Given the description of an element on the screen output the (x, y) to click on. 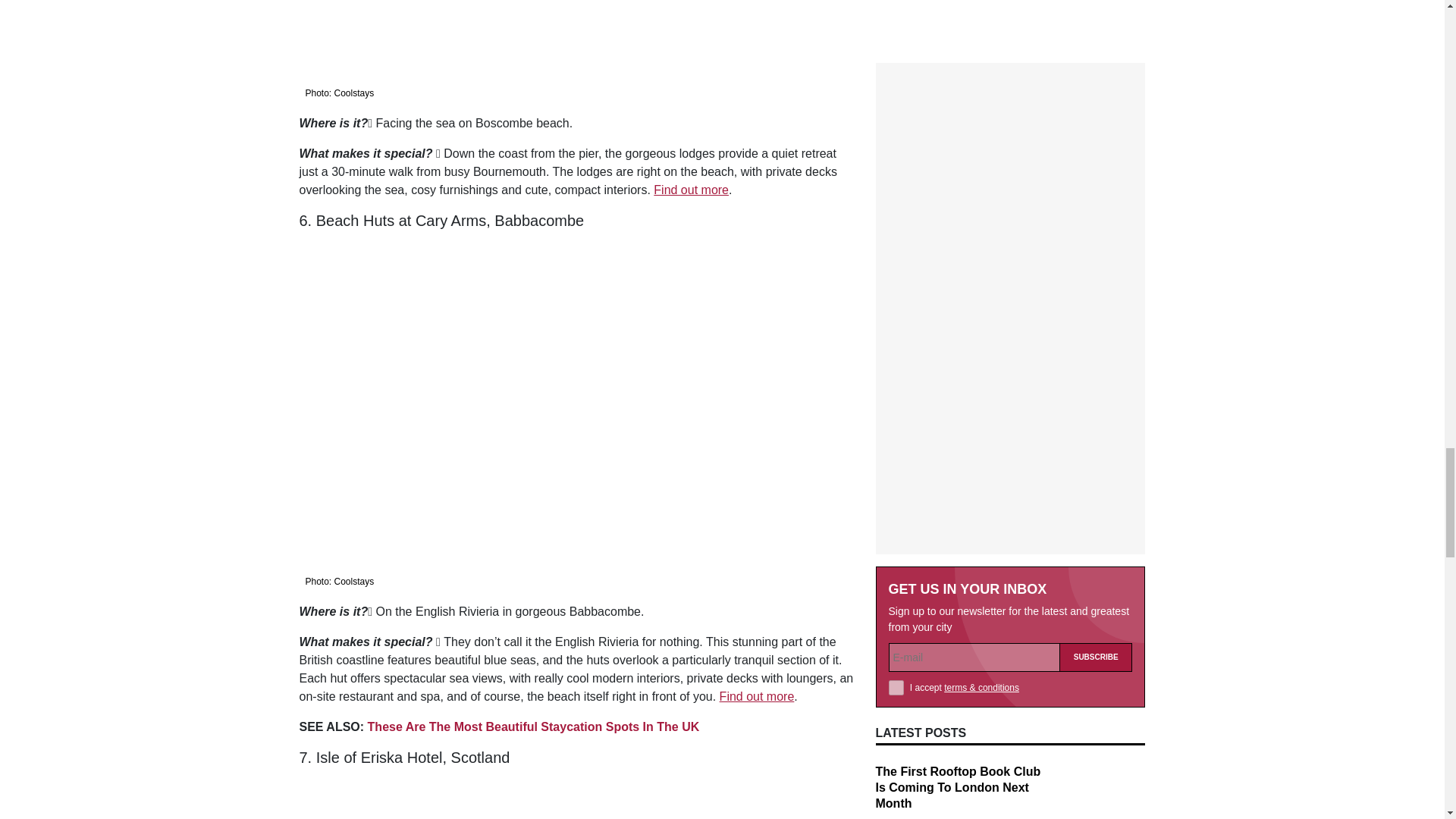
Find out more (691, 189)
These Are The Most Beautiful Staycation Spots In The UK (534, 726)
Find out more (756, 696)
